Given the description of an element on the screen output the (x, y) to click on. 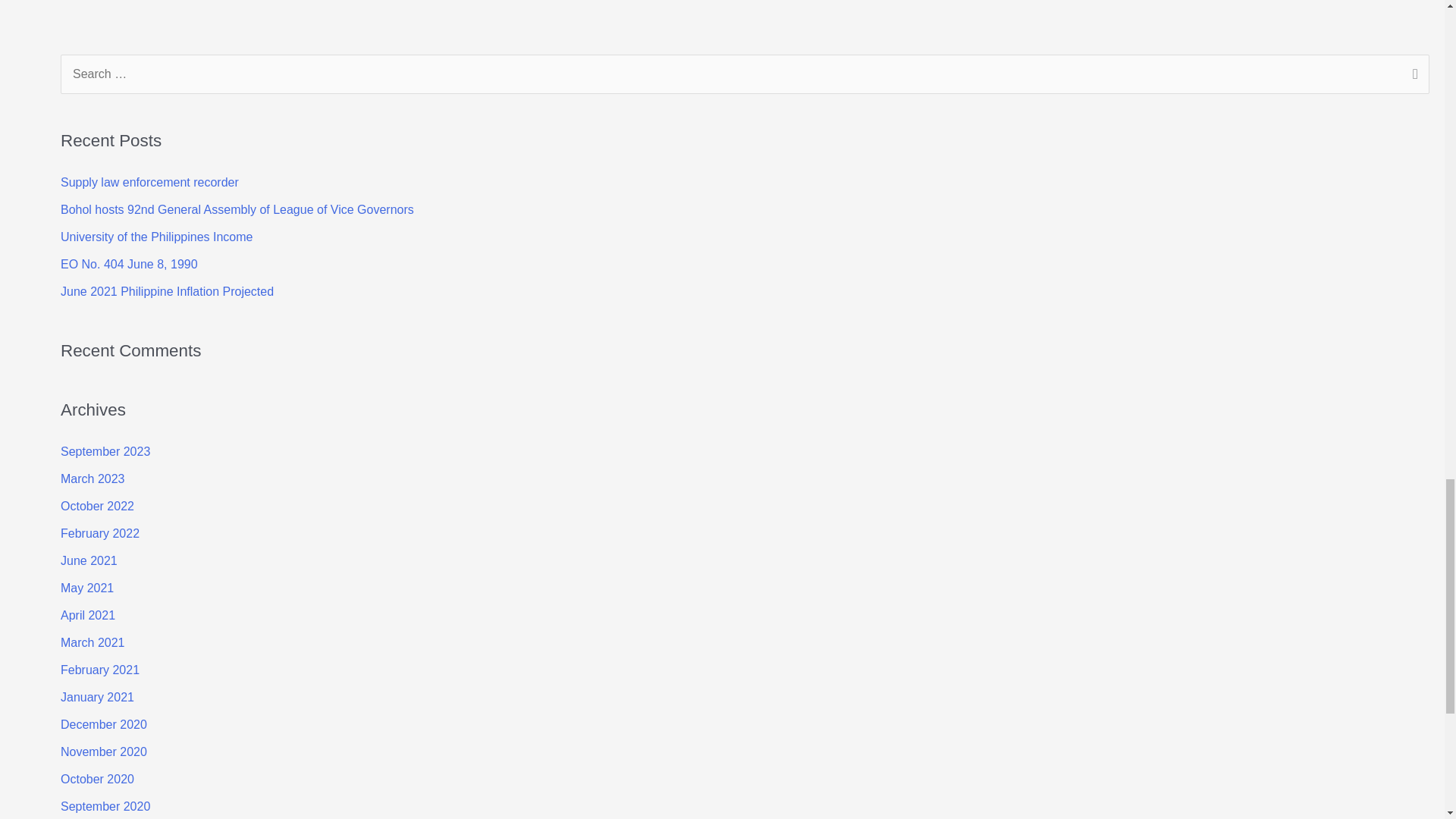
May 2021 (87, 587)
Supply law enforcement recorder (149, 182)
October 2022 (97, 505)
September 2023 (105, 451)
June 2021 (89, 560)
Search (1411, 75)
Search (1411, 75)
EO No. 404 June 8, 1990 (129, 264)
December 2020 (104, 724)
Search (1411, 75)
January 2021 (97, 697)
March 2021 (93, 642)
June 2021 Philippine Inflation Projected (167, 291)
University of the Philippines Income (156, 236)
